Given the description of an element on the screen output the (x, y) to click on. 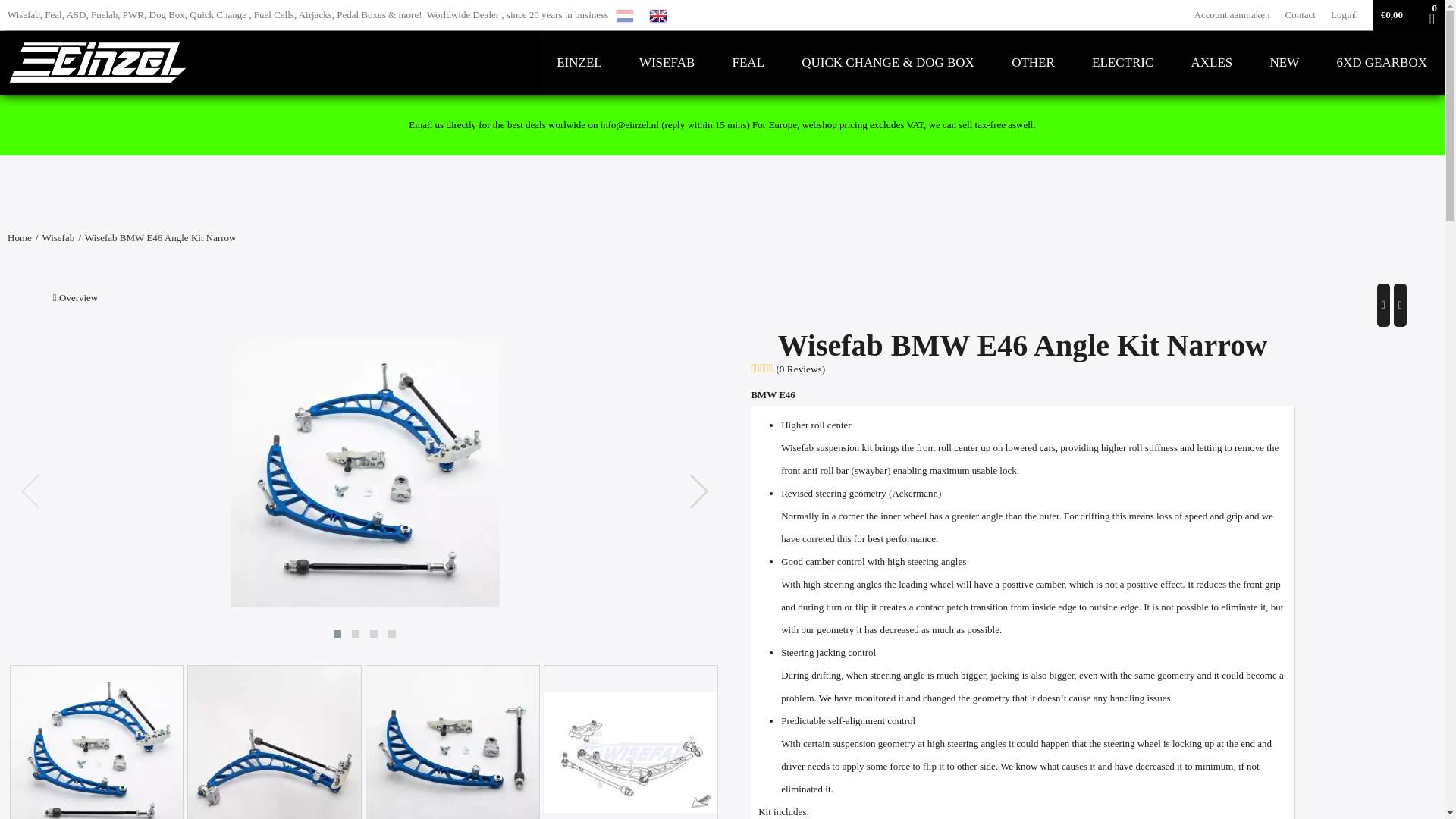
English (657, 14)
Nederlands (624, 14)
NEW (1284, 63)
Login (1344, 14)
Next (1399, 304)
WISEFAB (666, 63)
OTHER (1032, 63)
Einzel (578, 63)
Wisefab BMW E46 Angle Kit Narrow (364, 472)
AXLES (1211, 63)
Electric  (1122, 63)
Overview (74, 297)
Feal (748, 63)
Other (1032, 63)
Back (1383, 304)
